Given the description of an element on the screen output the (x, y) to click on. 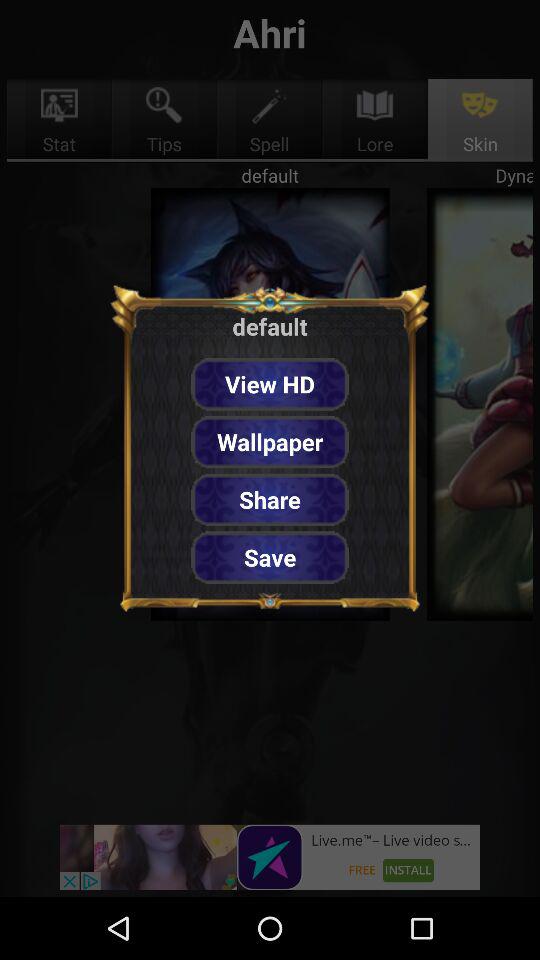
turn on save button (269, 557)
